Given the description of an element on the screen output the (x, y) to click on. 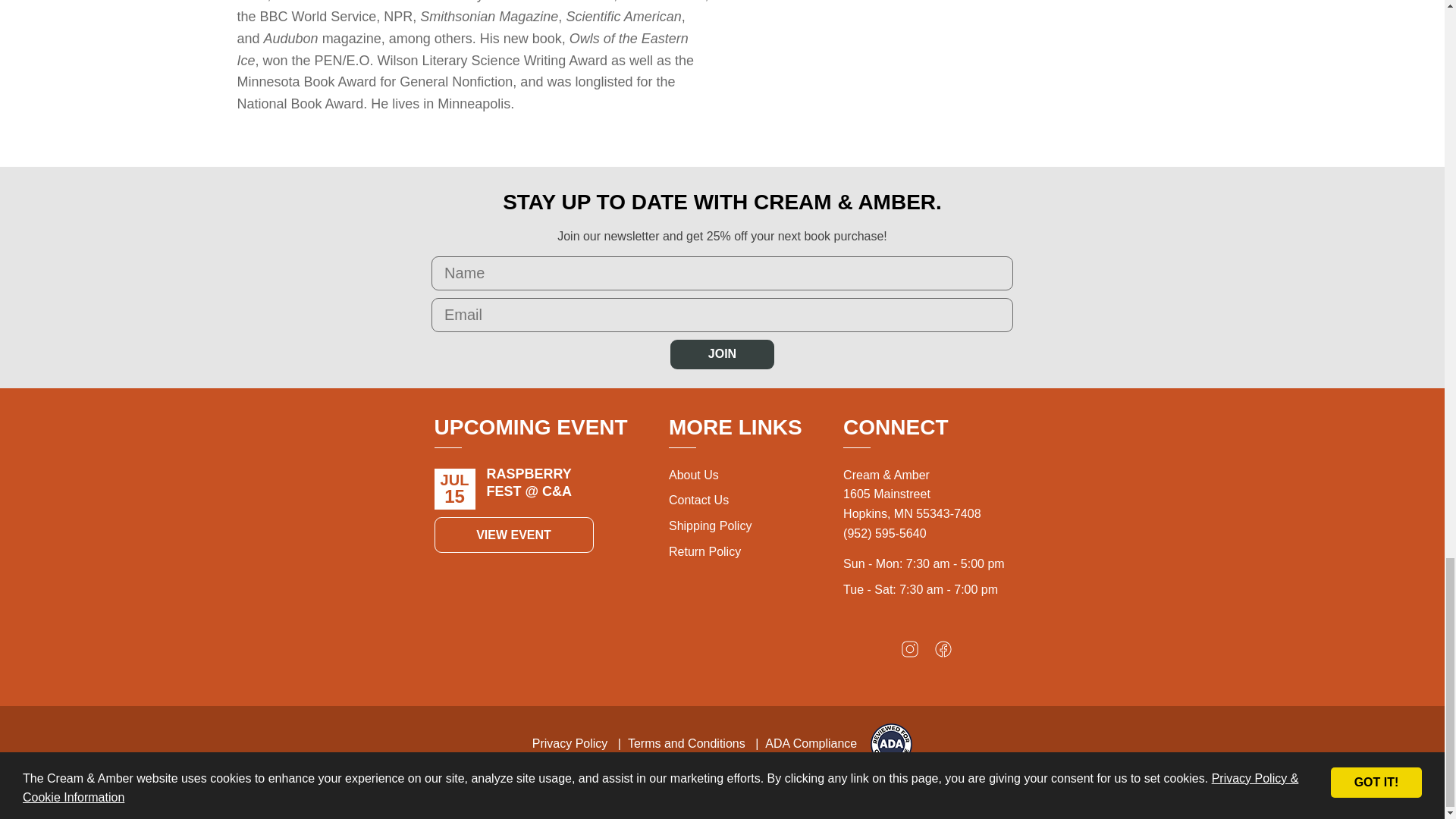
Join (721, 353)
Return Policy (704, 551)
VIEW EVENT (512, 534)
Connect with Instagram (909, 652)
Privacy Policy (570, 743)
Join (721, 353)
About Us (693, 474)
ADA Compliance (811, 743)
Shipping Policy (709, 525)
Terms and Conditions (686, 743)
Connect with Facebook (943, 652)
Powered by IndieCommerce (791, 786)
Contact Us (698, 499)
